Given the description of an element on the screen output the (x, y) to click on. 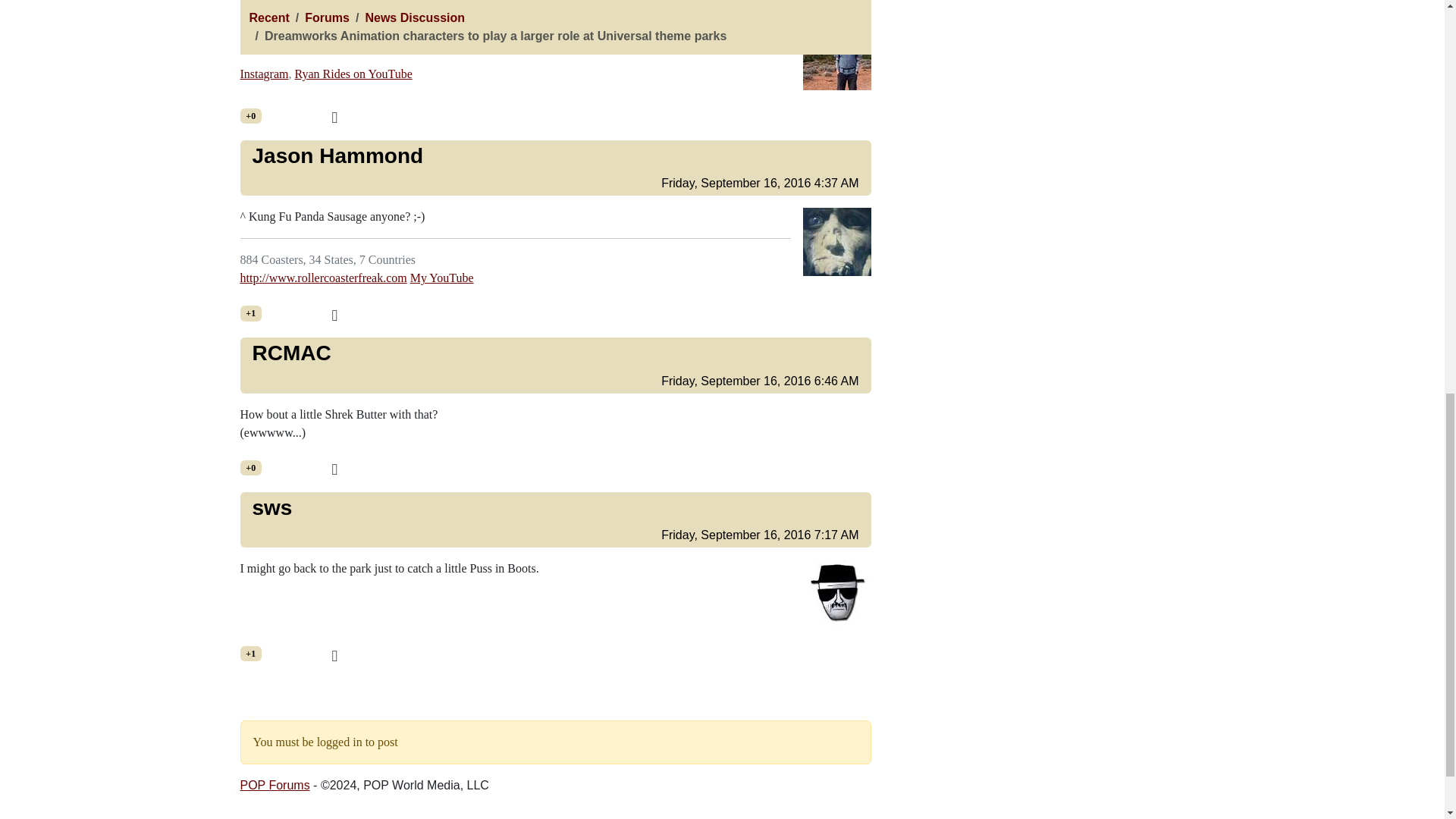
Instagram (264, 73)
